Given the description of an element on the screen output the (x, y) to click on. 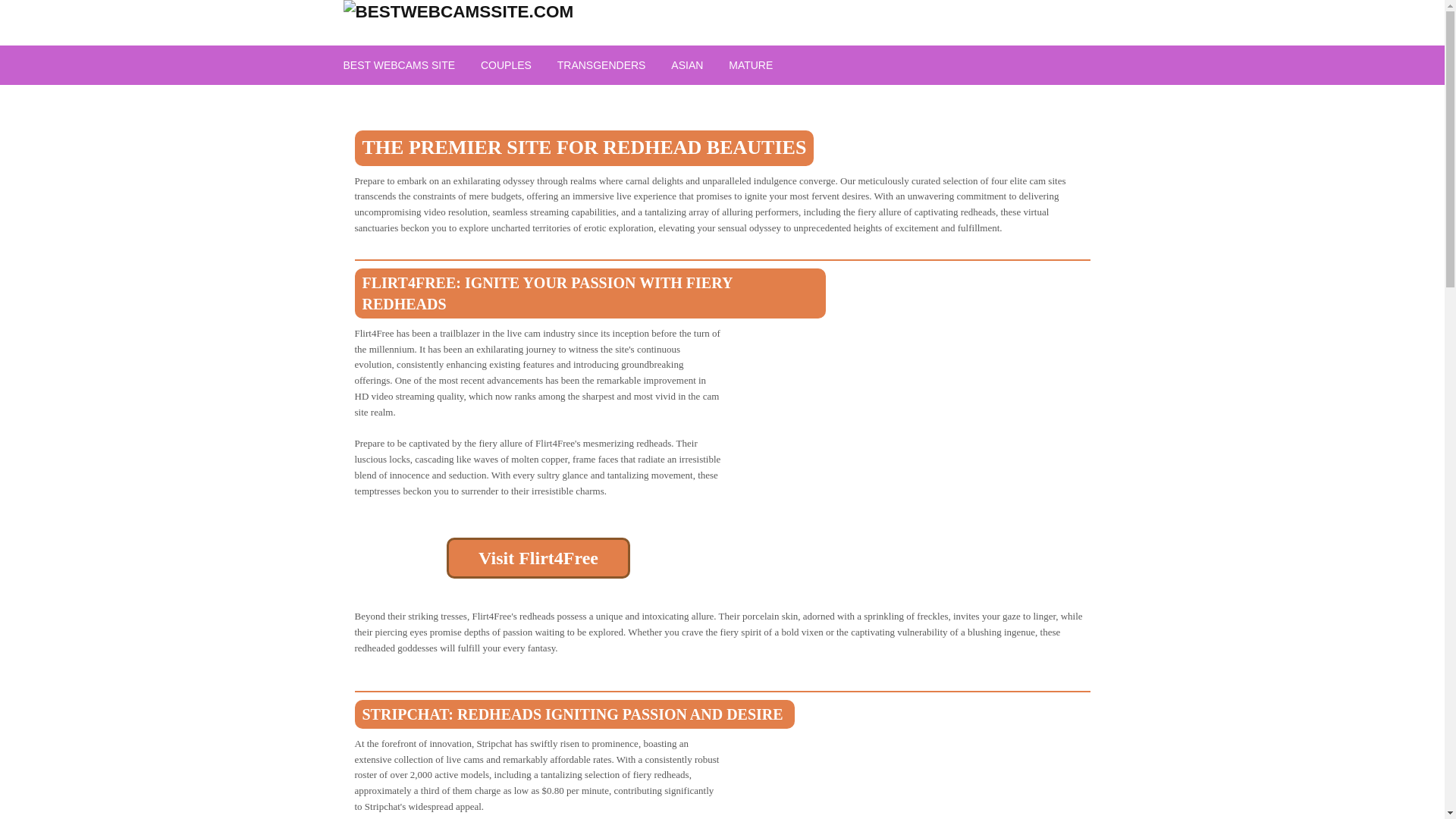
BEST WEBCAMS SITE (399, 65)
ASIAN (686, 65)
TRANSGENDERS (602, 65)
MATURE (750, 65)
COUPLES (505, 65)
Visit Flirt4Free (538, 557)
